Given the description of an element on the screen output the (x, y) to click on. 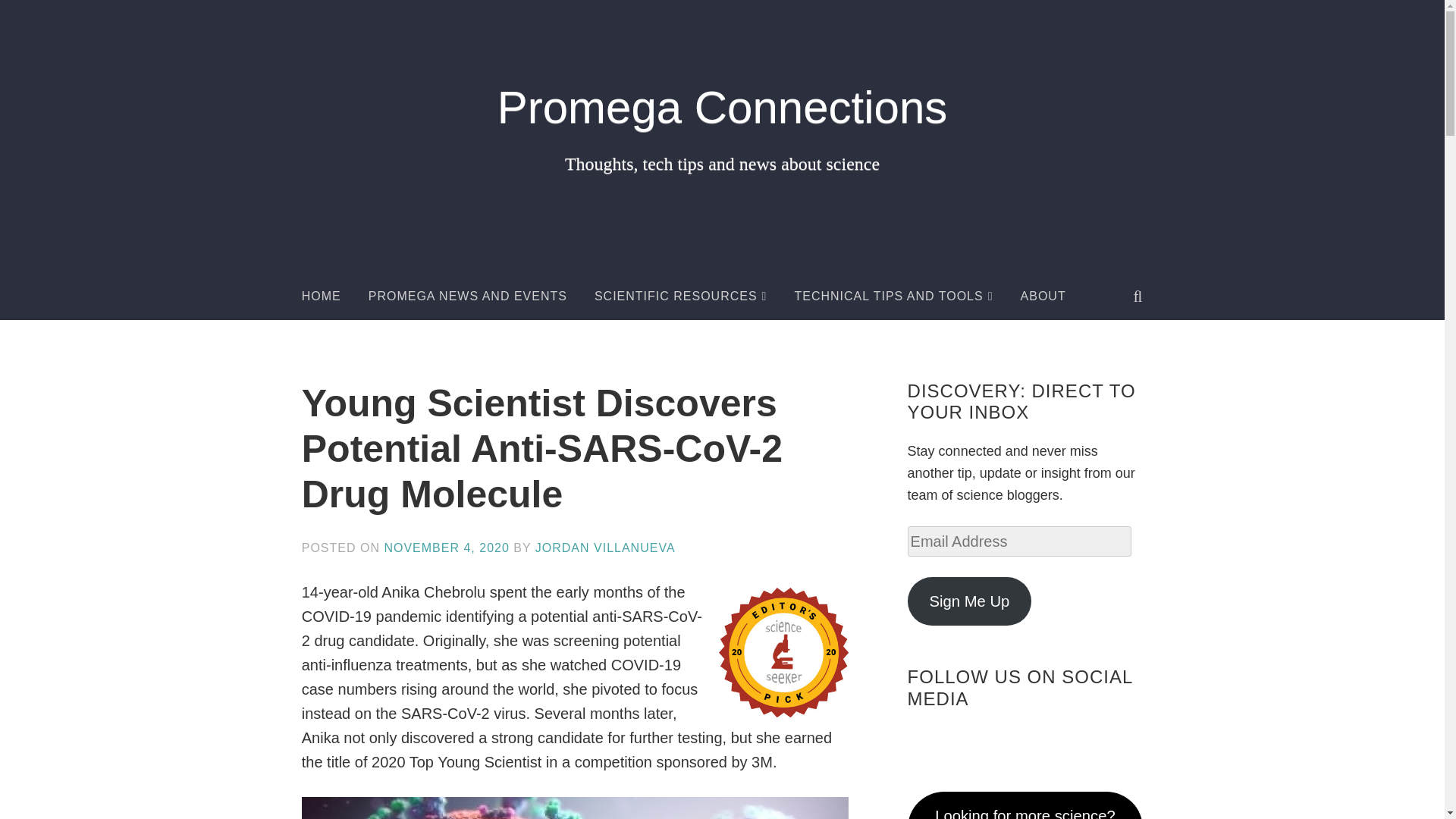
Promega Connections (722, 106)
TECHNICAL TIPS AND TOOLS (892, 296)
ABOUT (1042, 296)
NOVEMBER 4, 2020 (446, 547)
JORDAN VILLANUEVA (605, 547)
SCIENTIFIC RESOURCES (680, 296)
PROMEGA NEWS AND EVENTS (467, 296)
